Given the description of an element on the screen output the (x, y) to click on. 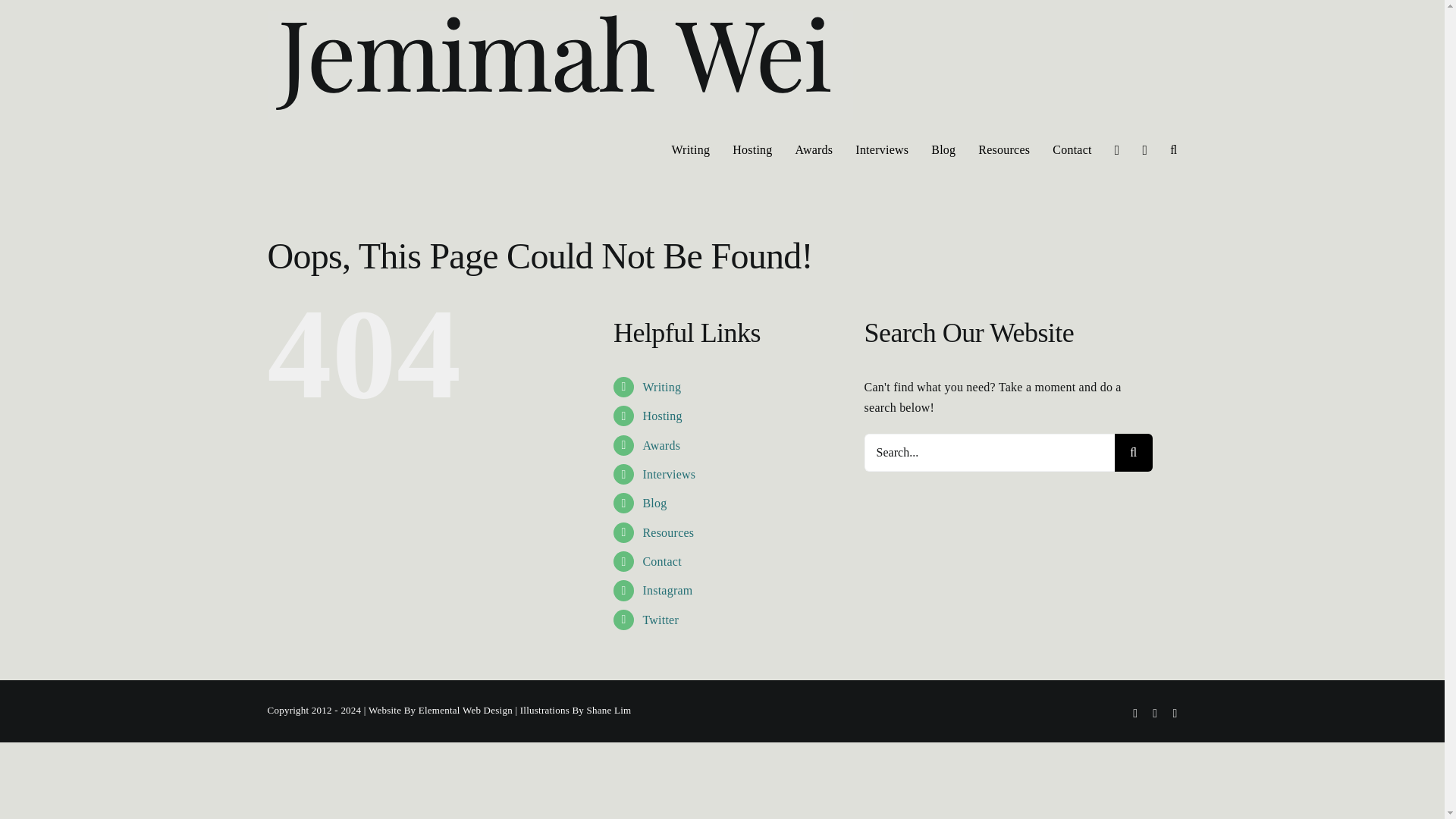
My writing (661, 386)
Blog (654, 502)
Visit my Twitter (660, 619)
Writing (661, 386)
Contact (661, 561)
Hosting (661, 415)
My Awards (660, 445)
Instagram (667, 590)
Interviews (668, 473)
My Interviews (668, 473)
